Given the description of an element on the screen output the (x, y) to click on. 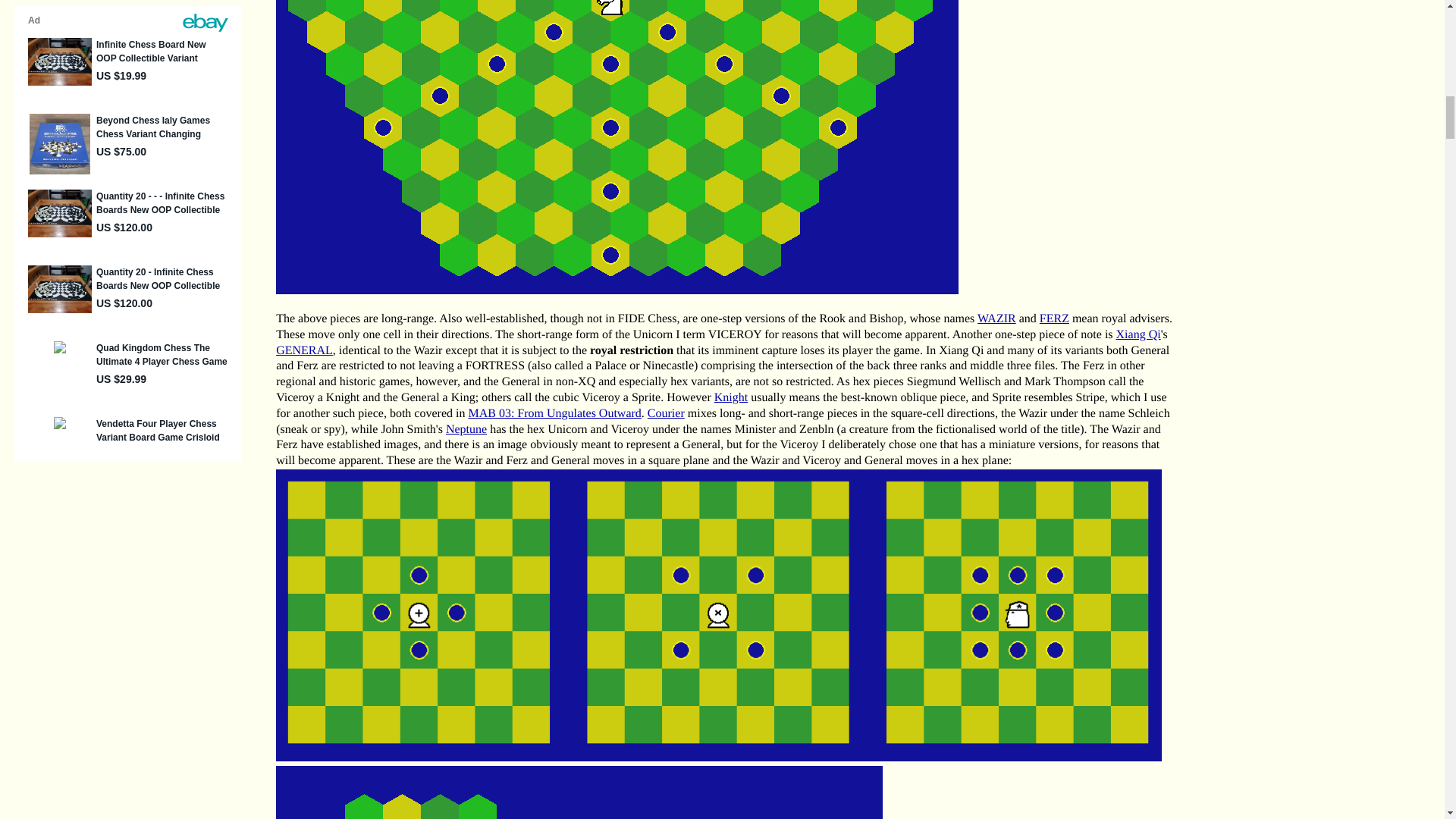
MAB 03: From Ungulates Outward (553, 413)
WAZIR (996, 318)
Xiang Qi (1138, 334)
FERZ (1053, 318)
Courier (665, 413)
Neptune (465, 429)
GENERAL (304, 350)
Knight (731, 397)
